Given the description of an element on the screen output the (x, y) to click on. 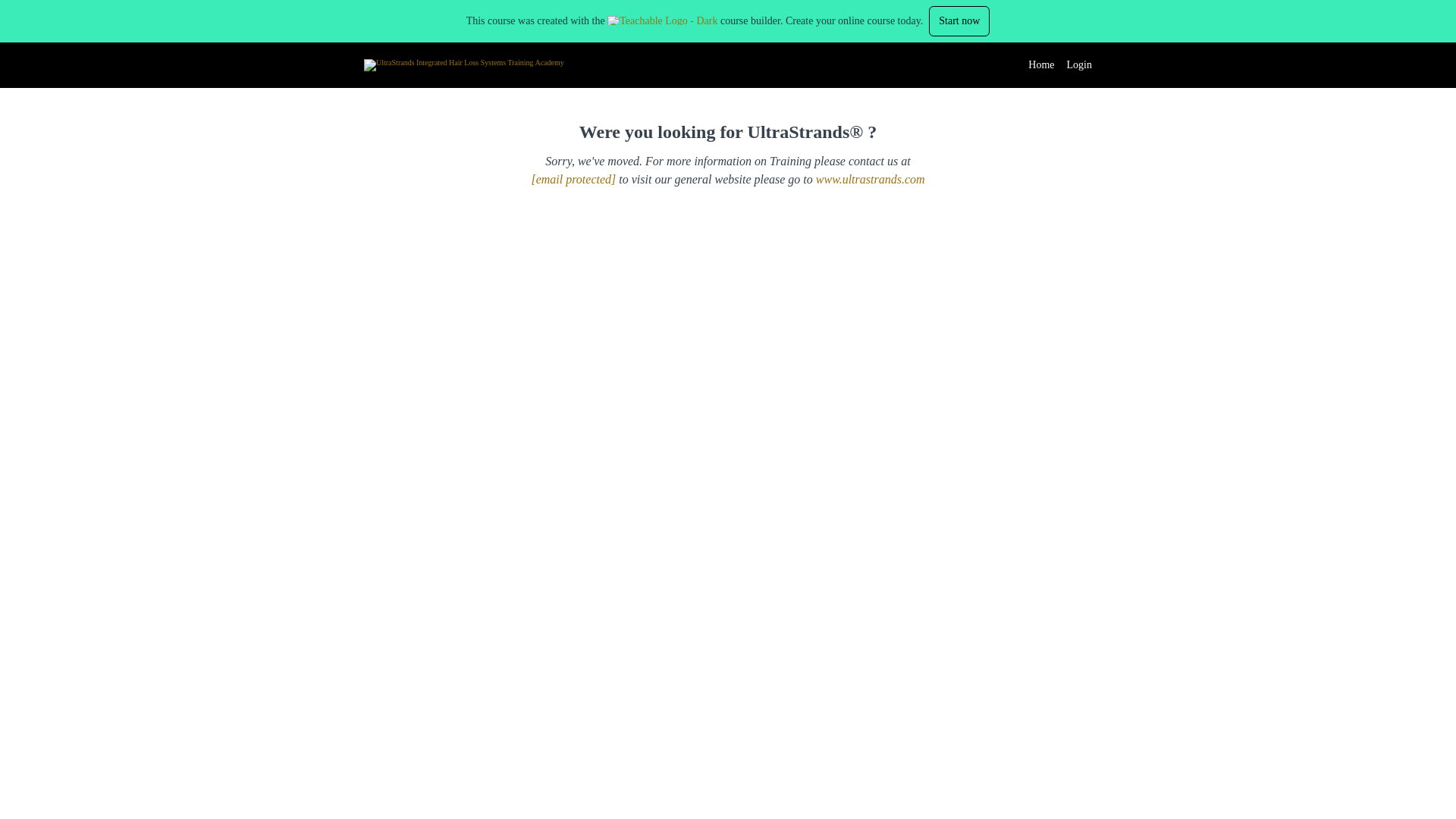
teachable.com (662, 19)
www.ultrastrands.com (869, 178)
Home (1040, 64)
Login (1079, 64)
Start now (959, 20)
